Given the description of an element on the screen output the (x, y) to click on. 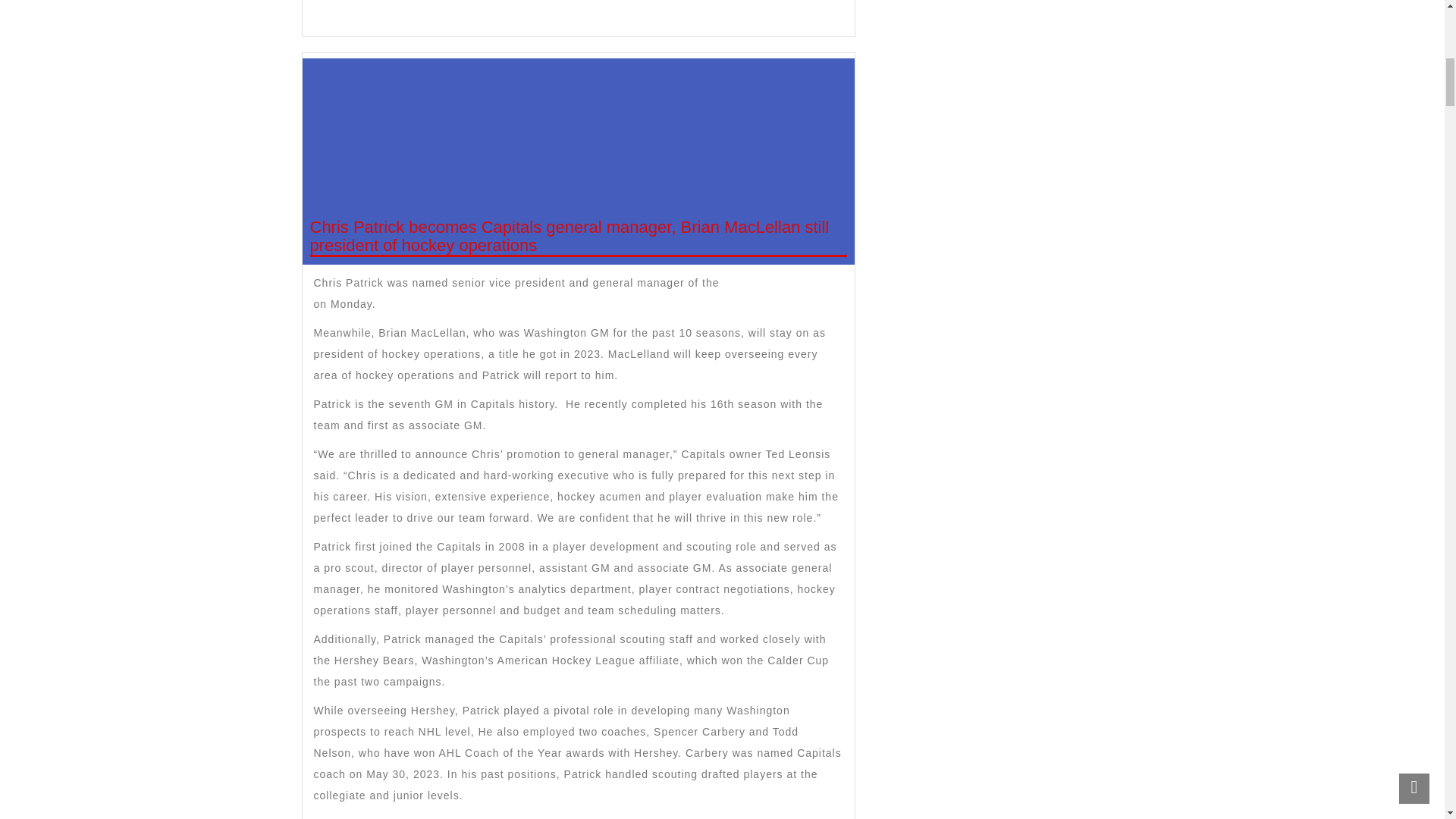
Washington Capitals (778, 282)
